Given the description of an element on the screen output the (x, y) to click on. 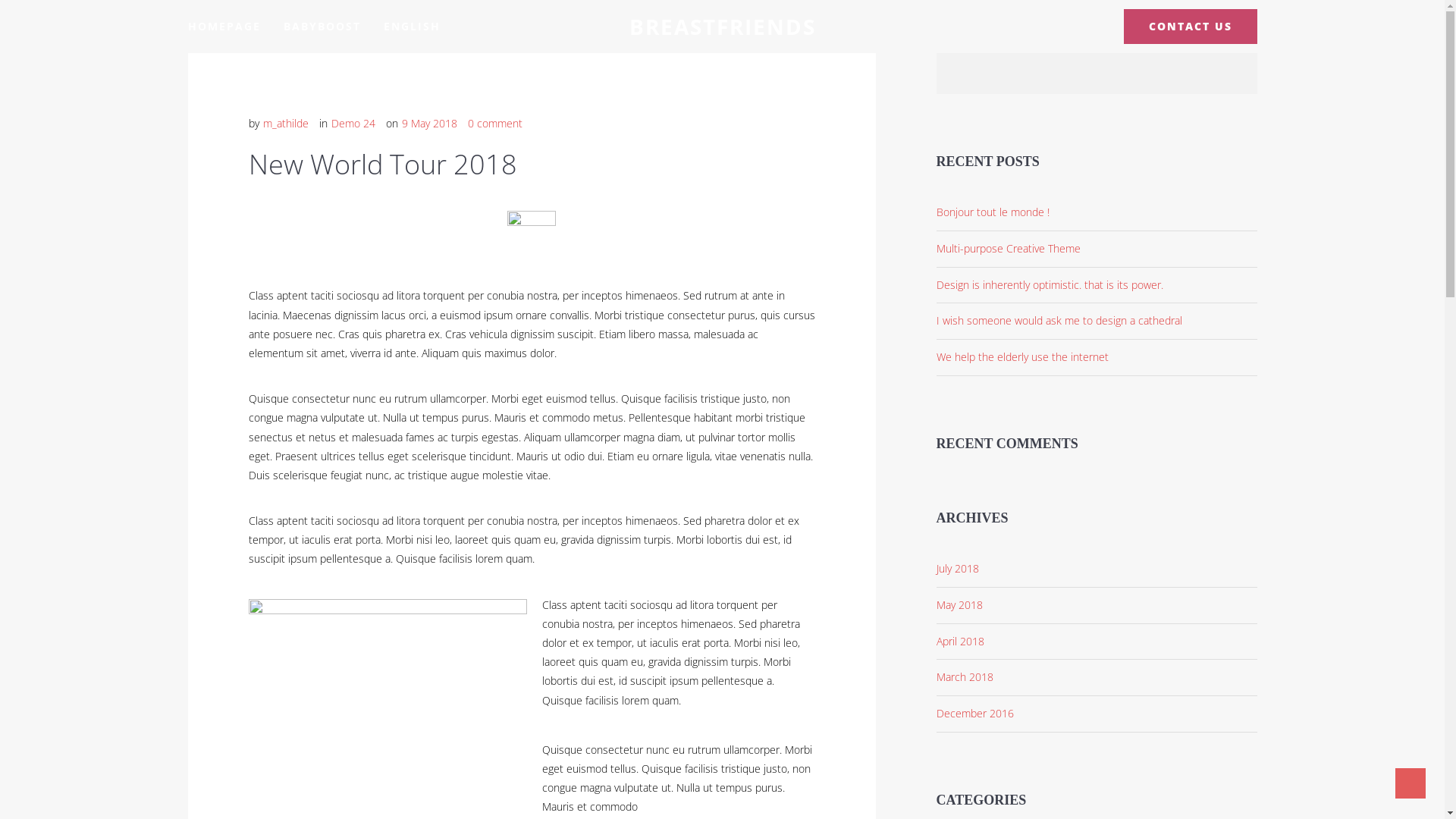
BABYBOOST Element type: text (321, 26)
May 2018 Element type: text (1095, 605)
m_athilde Element type: text (284, 123)
BREASTFRIENDS Element type: text (722, 26)
Bonjour tout le monde ! Element type: text (1095, 212)
0 comment Element type: text (494, 123)
Facebook Element type: hover (1065, 26)
Instagram Element type: hover (1092, 26)
Design is inherently optimistic. that is its power. Element type: text (1095, 285)
Demo 24 Element type: text (352, 123)
Multi-purpose Creative Theme Element type: text (1095, 249)
I wish someone would ask me to design a cathedral Element type: text (1095, 321)
CONTACT US Element type: text (1190, 26)
We help the elderly use the internet Element type: text (1095, 357)
December 2016 Element type: text (1095, 714)
July 2018 Element type: text (1095, 569)
ENGLISH Element type: text (411, 26)
HOMEPAGE Element type: text (224, 26)
April 2018 Element type: text (1095, 642)
Send Message Element type: text (1281, 693)
March 2018 Element type: text (1095, 677)
